Given the description of an element on the screen output the (x, y) to click on. 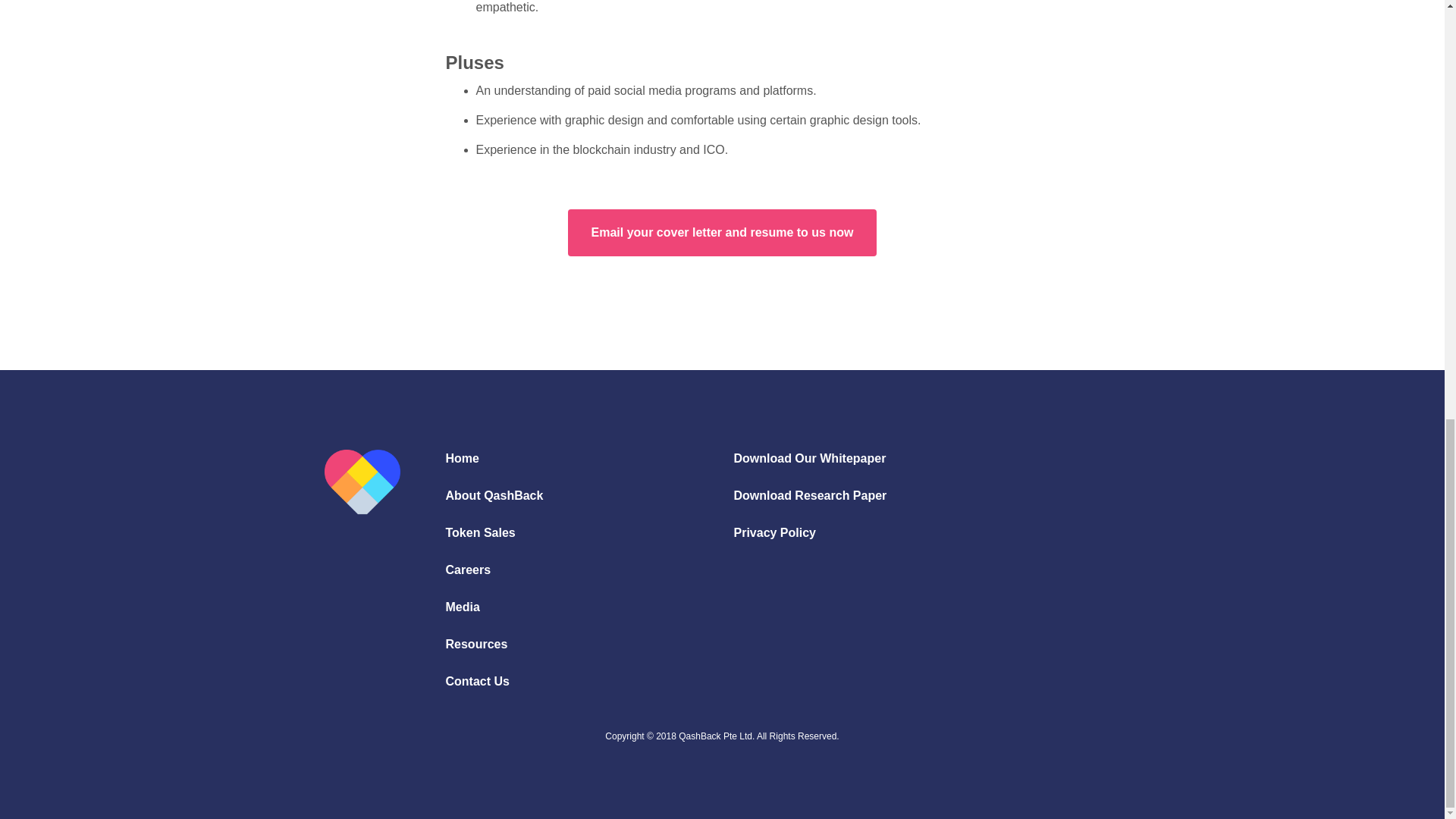
Home (462, 458)
Privacy Policy (774, 533)
Media (462, 606)
Download Our Whitepaper (809, 458)
Download Research Paper (809, 495)
Token Sales (480, 533)
Careers (468, 570)
Contact Us (477, 681)
Email your cover letter and resume to us now (722, 232)
Resources (476, 644)
About QashBack (494, 495)
